Given the description of an element on the screen output the (x, y) to click on. 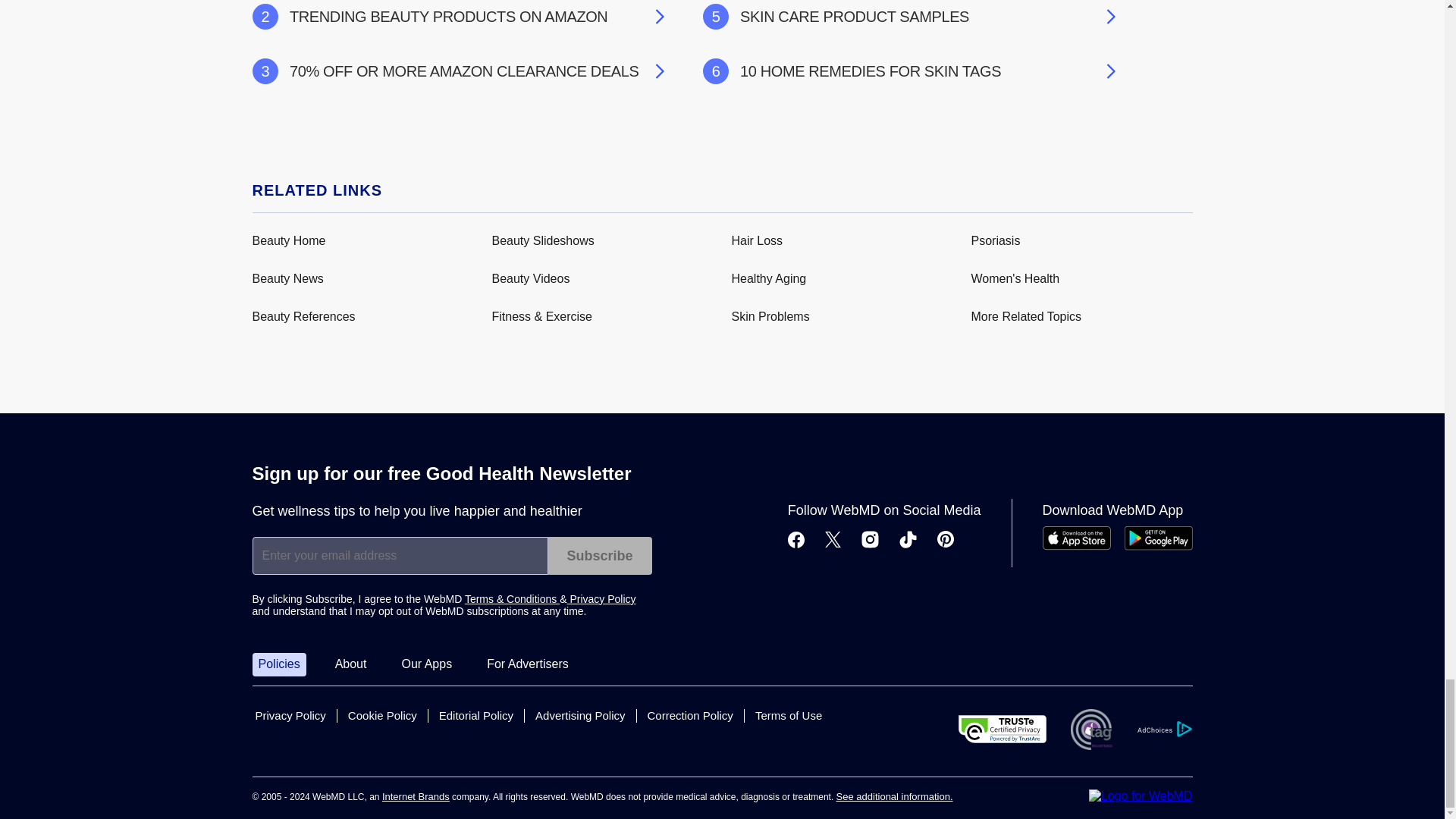
TAG Registered Seal (1091, 729)
Adchoices (1163, 729)
TRUSTe Privacy Certification (1002, 728)
WebMD: Better information. Better health. (1140, 796)
